Given the description of an element on the screen output the (x, y) to click on. 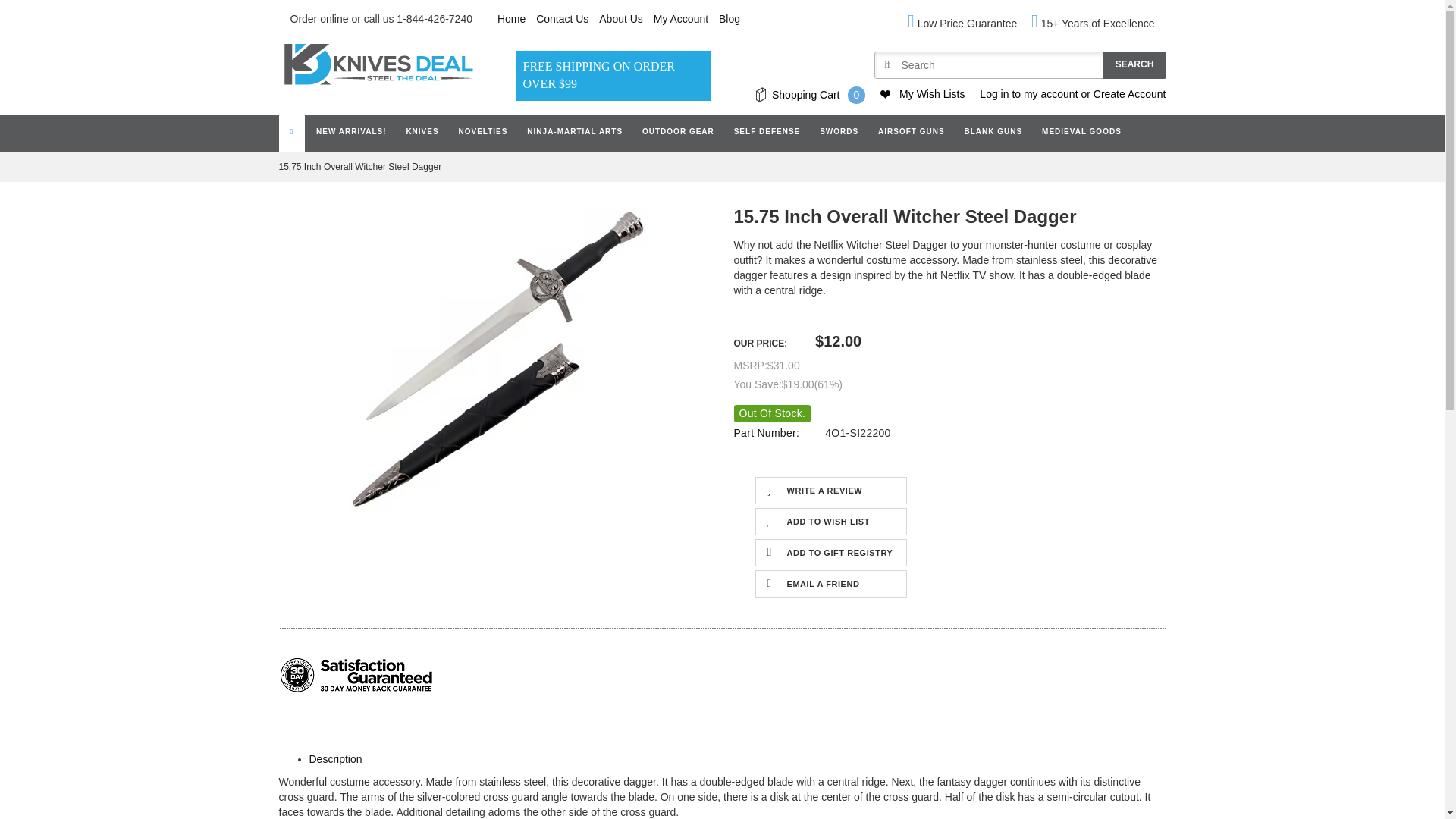
15.75 Inch Overall Witcher Steel Dagger  (495, 359)
NOVELTIES (483, 132)
Home (511, 19)
My Account (680, 19)
NEW ARRIVALS! (350, 132)
SEARCH (1134, 64)
Create Account (1129, 93)
About Us (620, 19)
Log in to my account (1028, 93)
Shopping Cart0 (809, 95)
Blog (729, 19)
Contact Us (561, 19)
Satisfaction Guaranteed (356, 674)
KNIVES (422, 132)
My Wish Lists (931, 93)
